Given the description of an element on the screen output the (x, y) to click on. 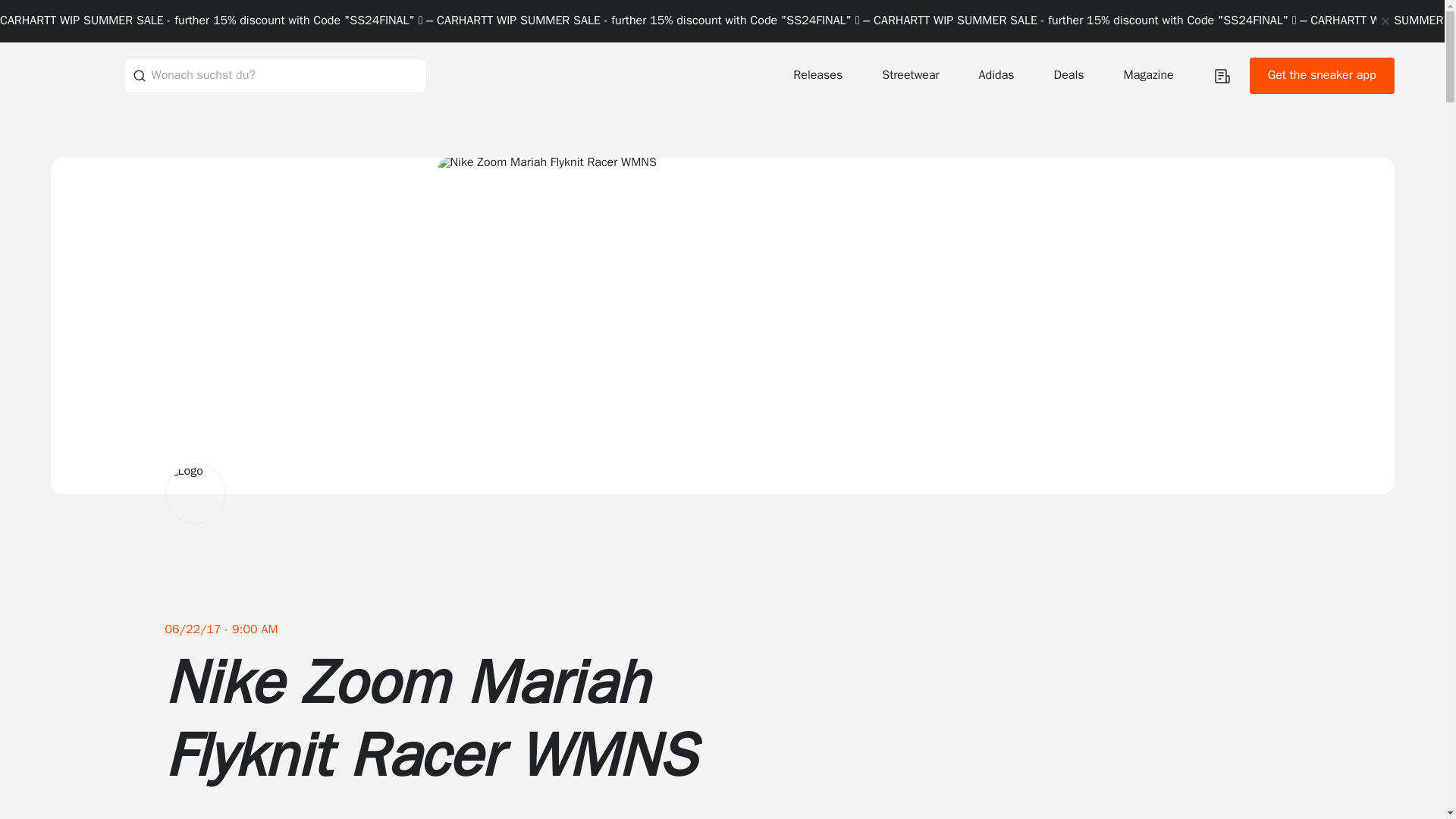
Get the sneaker app (1321, 75)
Wonach suchst du? (274, 75)
Adidas (997, 74)
Deals (1070, 74)
Streetwear (912, 74)
Releases (819, 74)
Magazine (1150, 74)
